Given the description of an element on the screen output the (x, y) to click on. 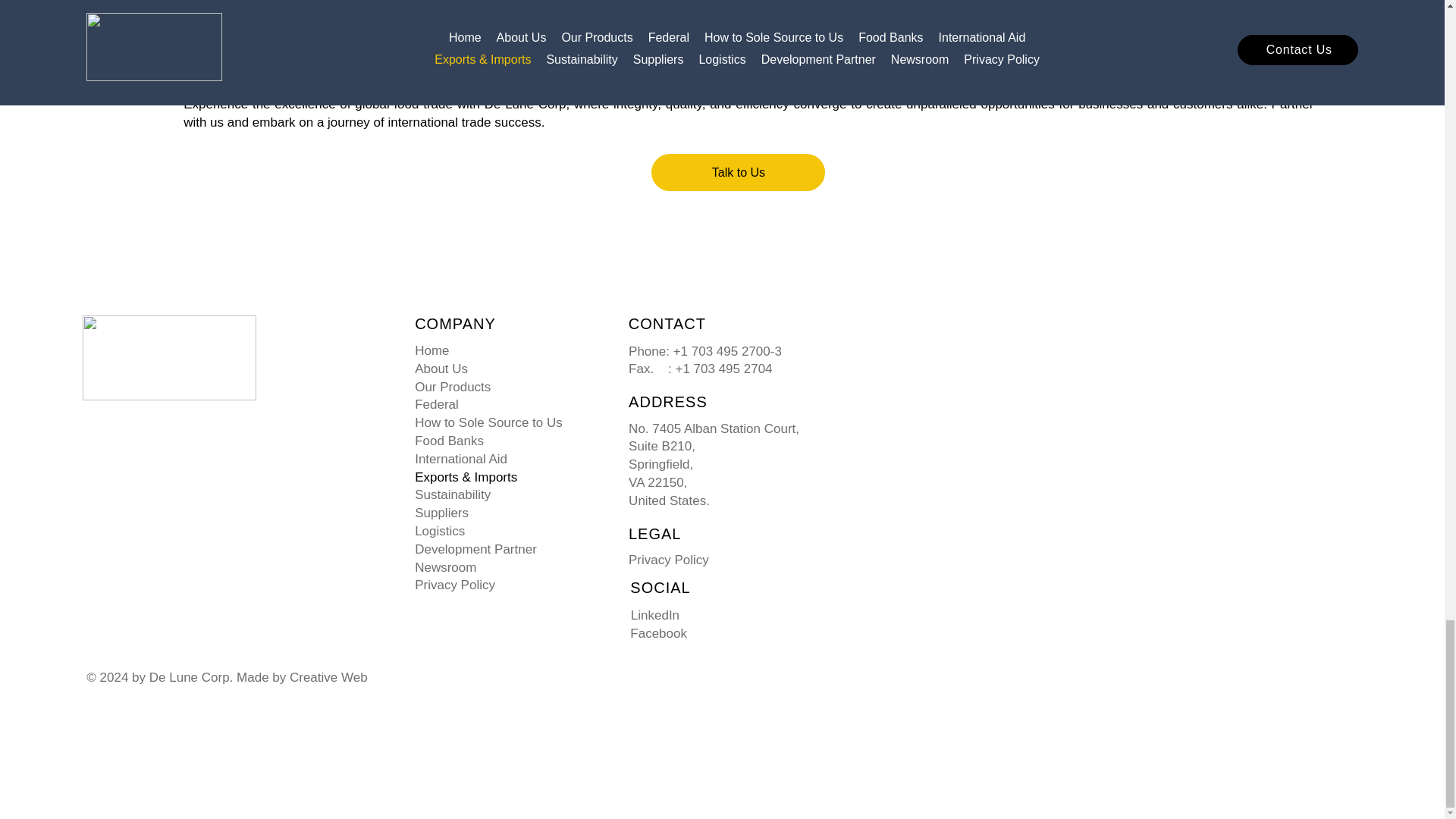
LinkedIn (654, 615)
Logistics (505, 531)
Sustainability (505, 495)
Development Partner (505, 549)
Federal (505, 404)
Privacy Policy (668, 559)
About Us (505, 369)
Our Products (505, 387)
How to Sole Source to Us (505, 423)
Talk to Us (737, 171)
International Aid (505, 459)
Facebook (658, 633)
Suppliers (505, 513)
Privacy Policy (505, 585)
Newsroom (505, 567)
